Given the description of an element on the screen output the (x, y) to click on. 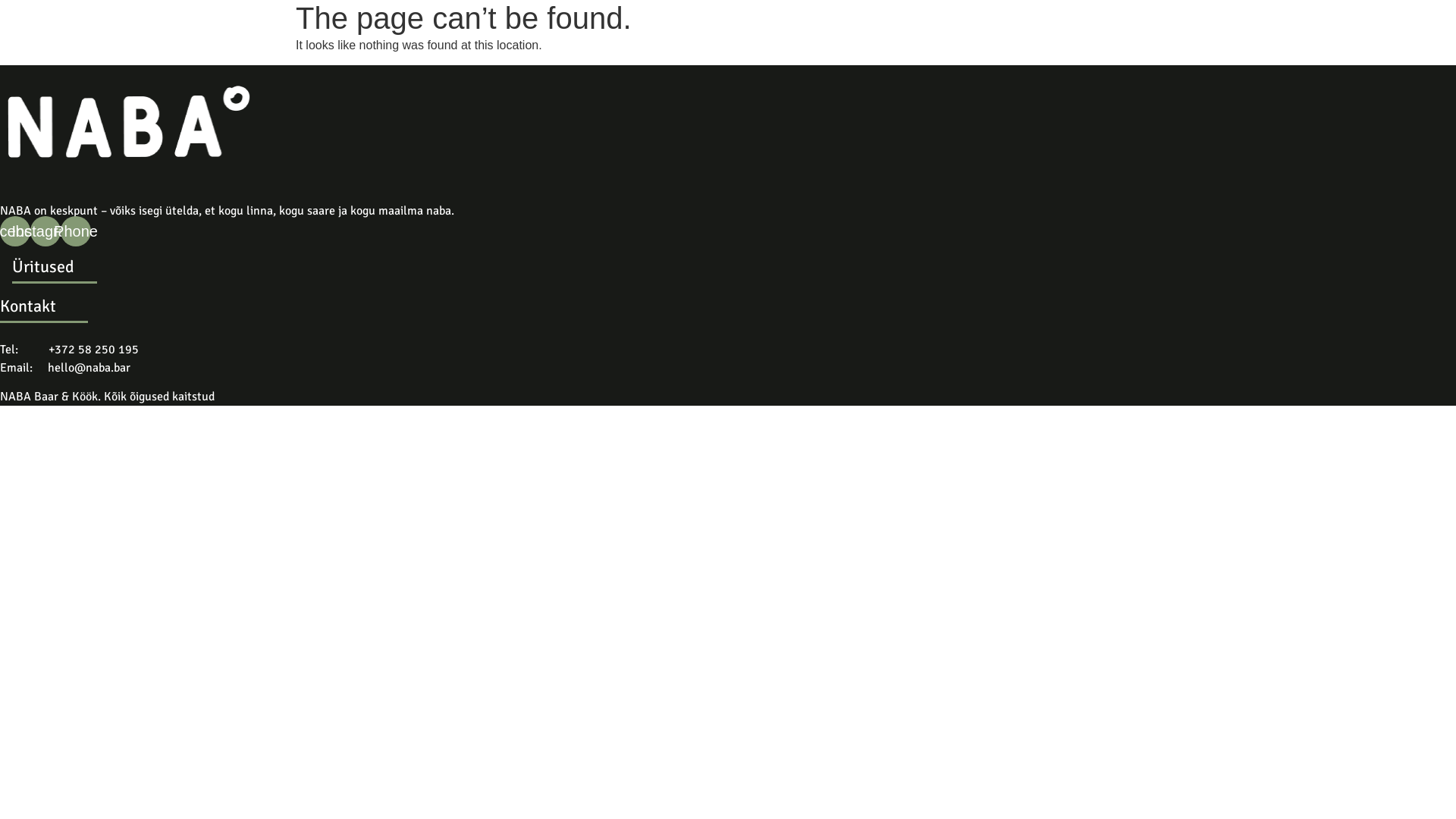
Instagram Element type: text (45, 231)
Facebook Element type: text (15, 231)
hello@naba.bar Element type: text (88, 367)
+372 58 250 195 Element type: text (93, 349)
Skip to content Element type: text (0, 0)
Phone Element type: text (75, 231)
